Given the description of an element on the screen output the (x, y) to click on. 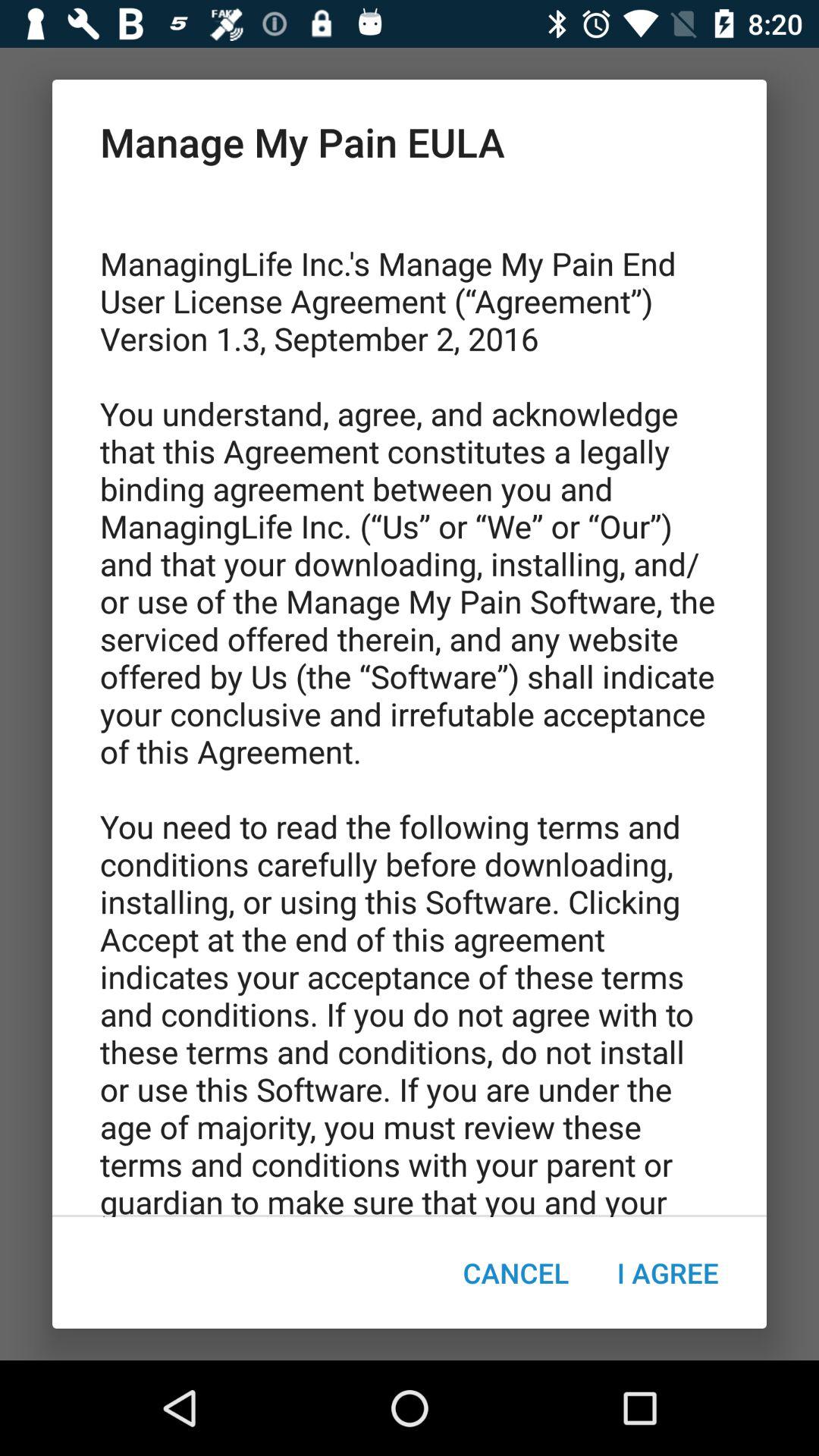
select the i agree icon (667, 1272)
